Given the description of an element on the screen output the (x, y) to click on. 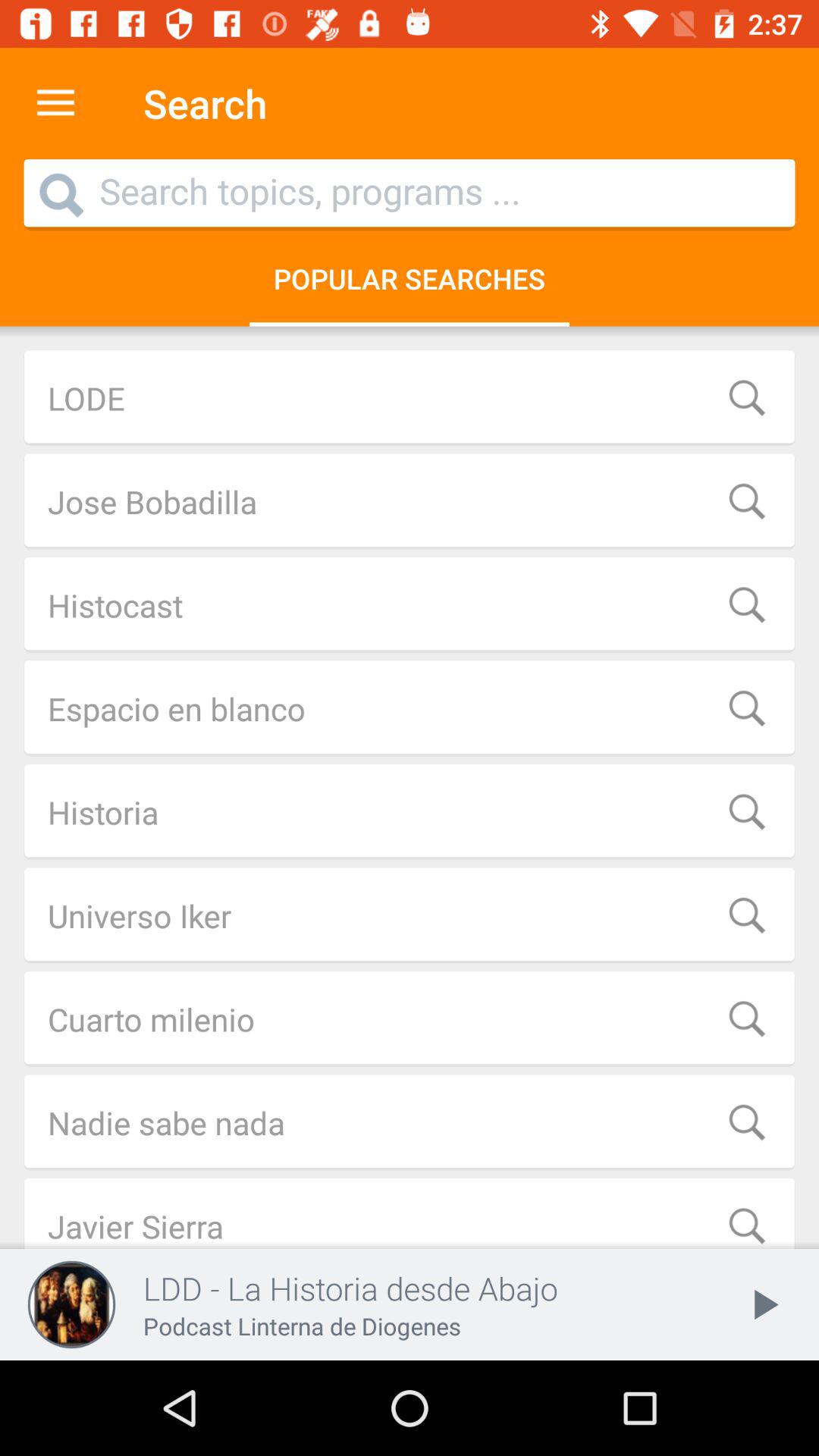
tap lode item (409, 397)
